Given the description of an element on the screen output the (x, y) to click on. 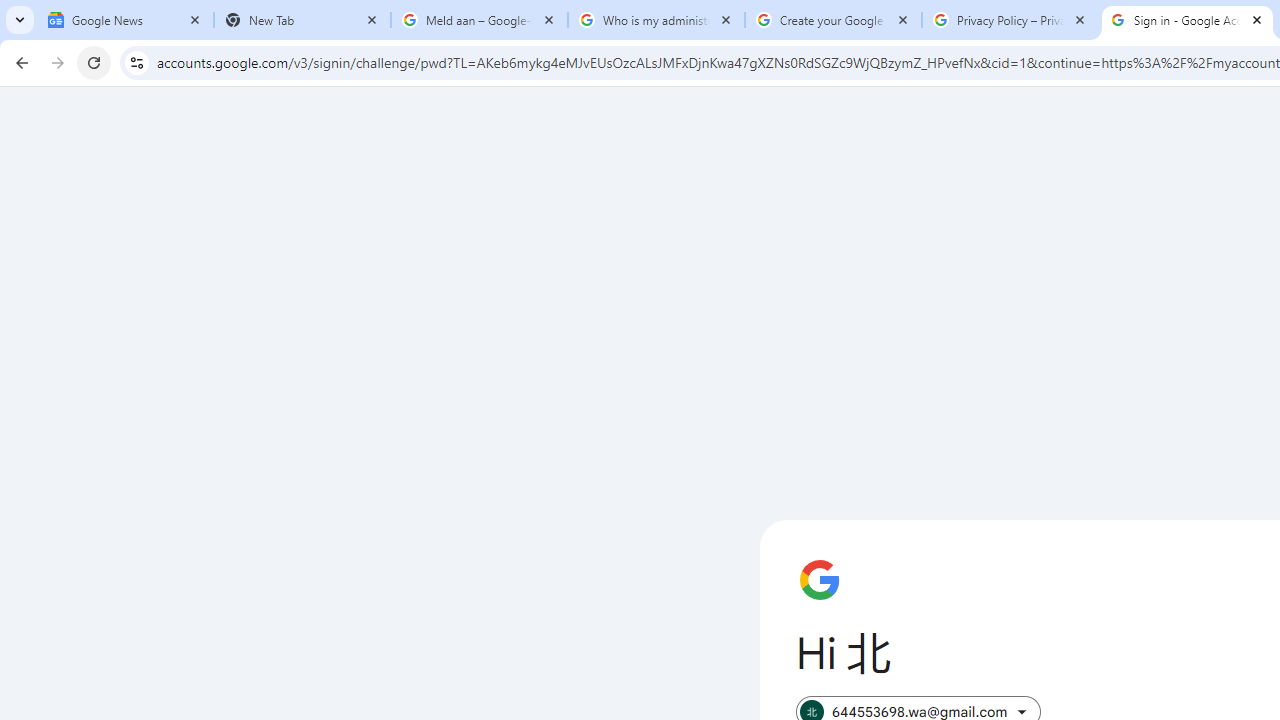
New Tab (301, 20)
Create your Google Account (833, 20)
Who is my administrator? - Google Account Help (656, 20)
Google News (125, 20)
